Given the description of an element on the screen output the (x, y) to click on. 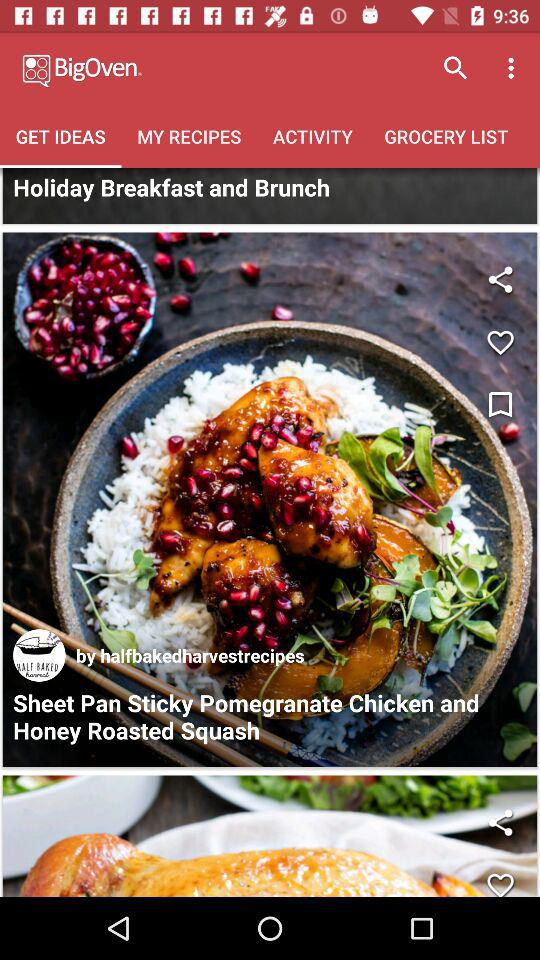
visit profile (39, 655)
